Given the description of an element on the screen output the (x, y) to click on. 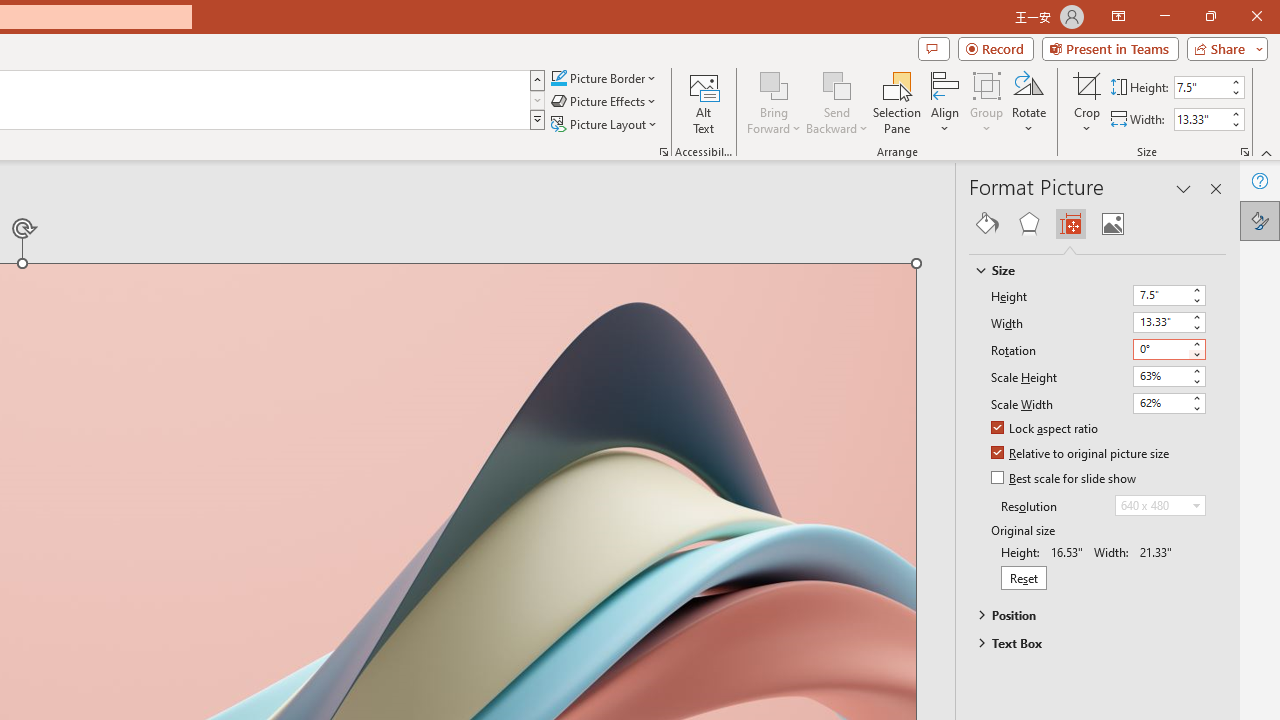
Picture Border Blue, Accent 1 (558, 78)
Picture (1112, 223)
